Given the description of an element on the screen output the (x, y) to click on. 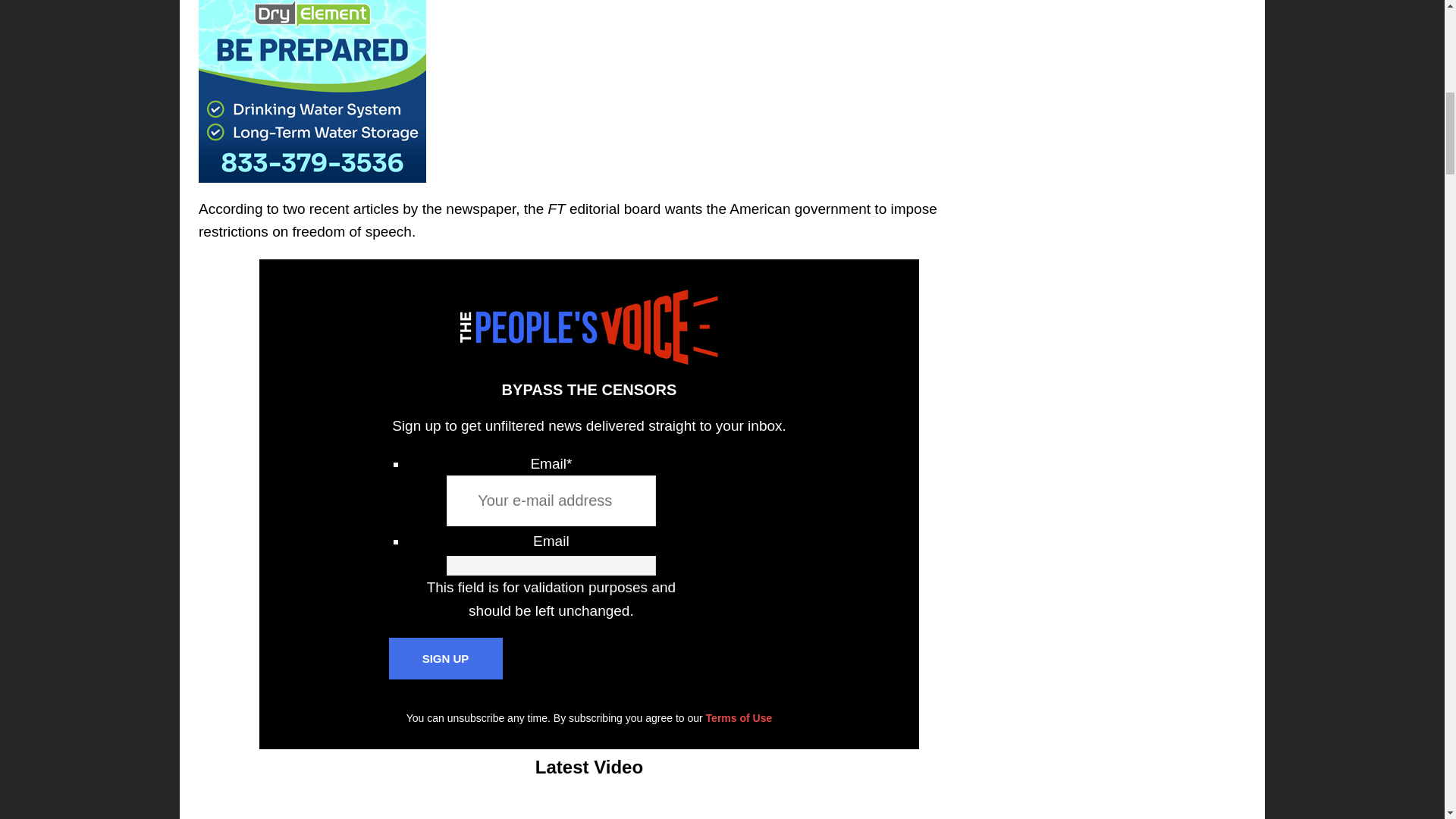
SIGN UP (445, 658)
